Given the description of an element on the screen output the (x, y) to click on. 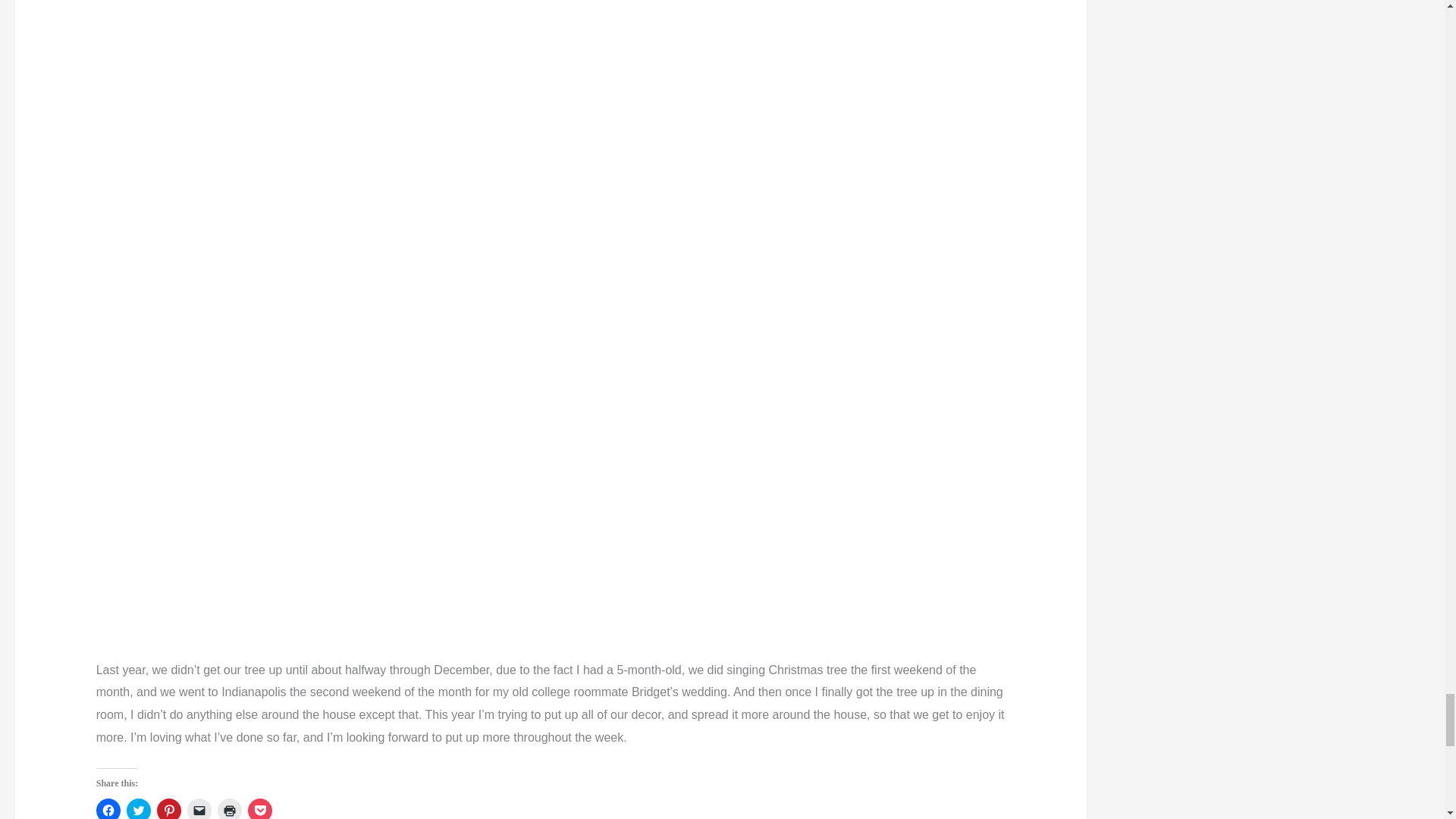
Click to share on Facebook (108, 808)
Click to share on Twitter (138, 808)
Click to share on Pinterest (168, 808)
Click to email a link to a friend (199, 808)
Click to print (228, 808)
Click to share on Pocket (259, 808)
